Given the description of an element on the screen output the (x, y) to click on. 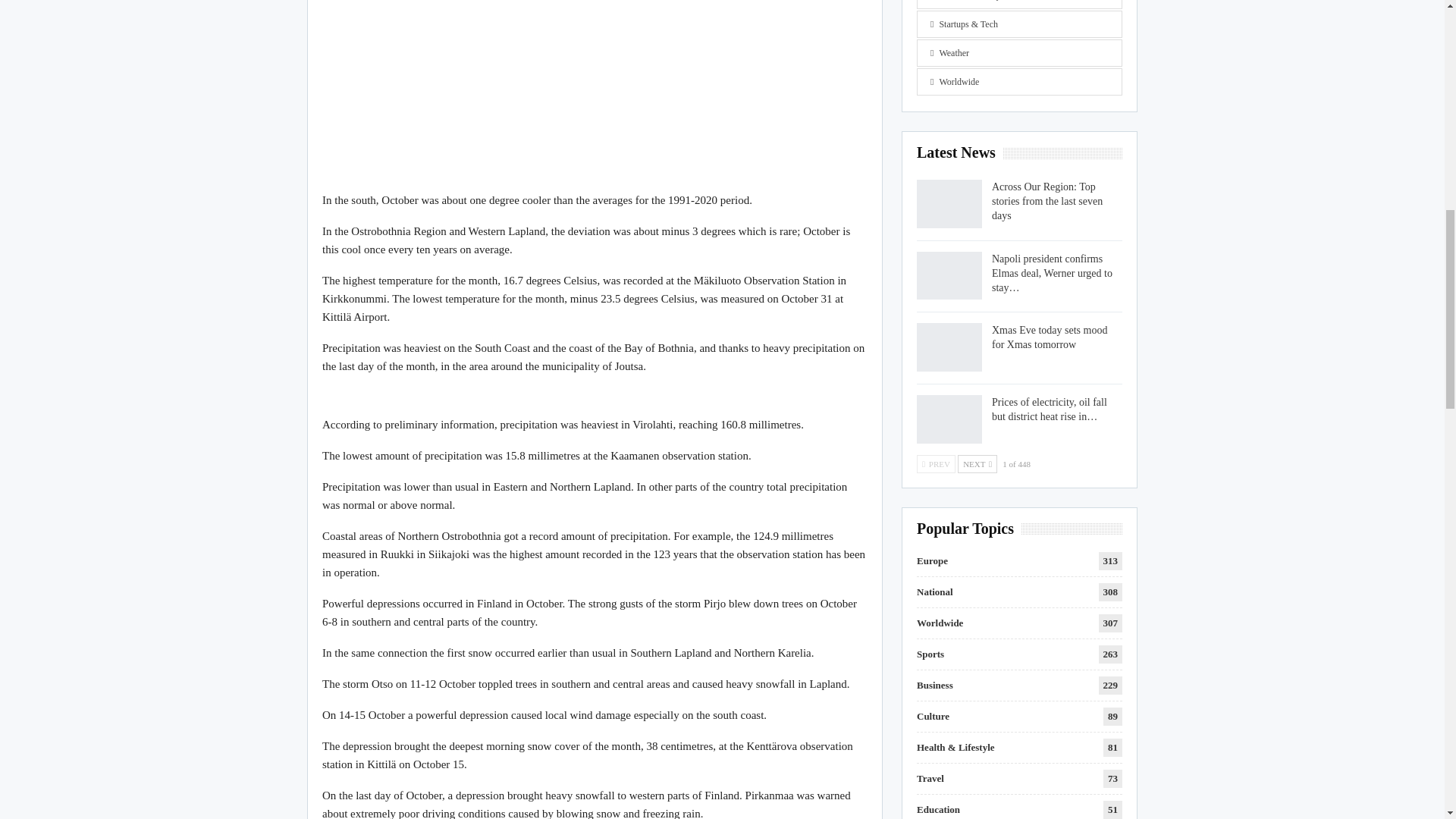
Advertisement (594, 88)
